Given the description of an element on the screen output the (x, y) to click on. 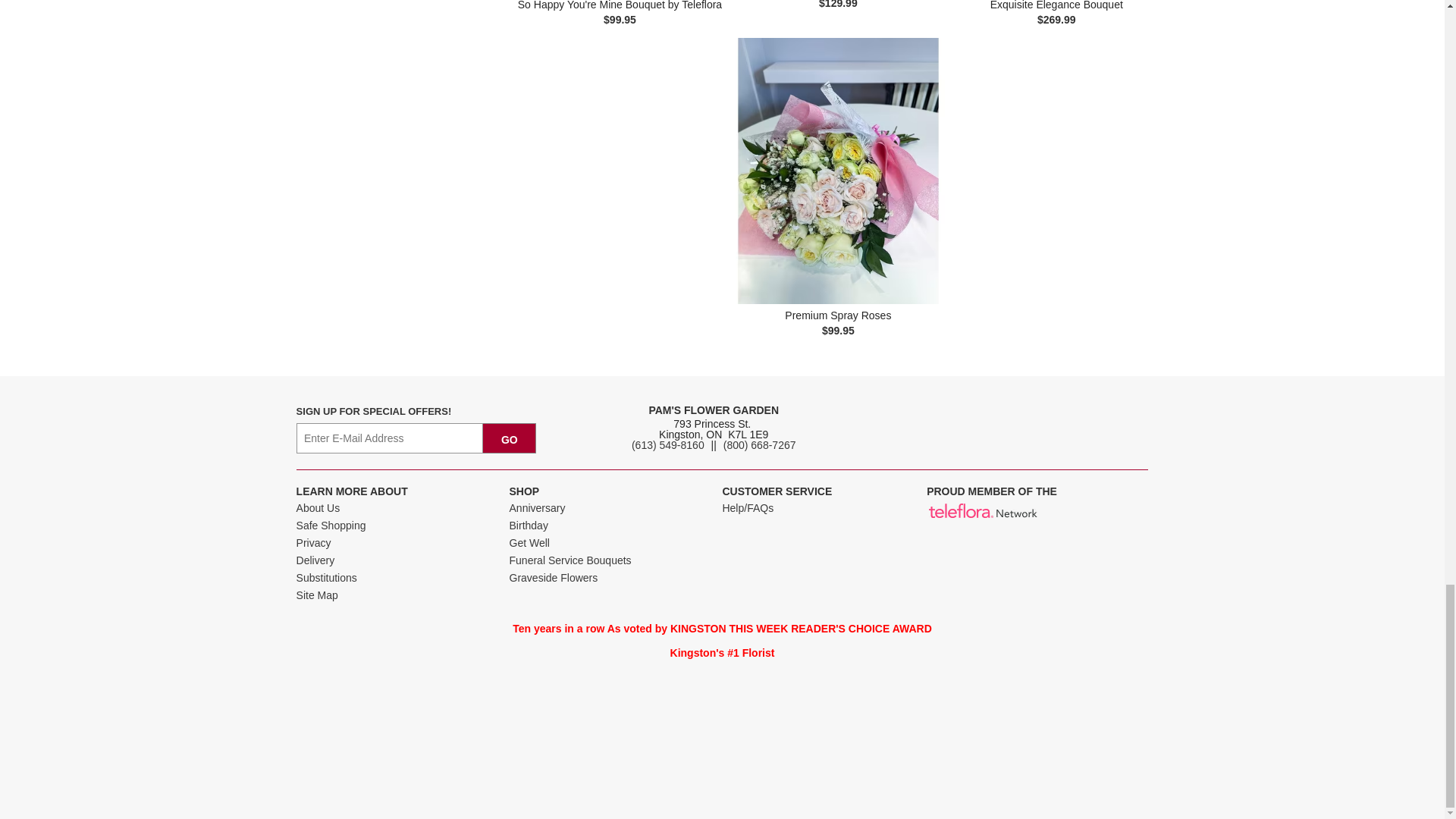
Go (509, 438)
go (509, 438)
Email Sign up (390, 438)
